Given the description of an element on the screen output the (x, y) to click on. 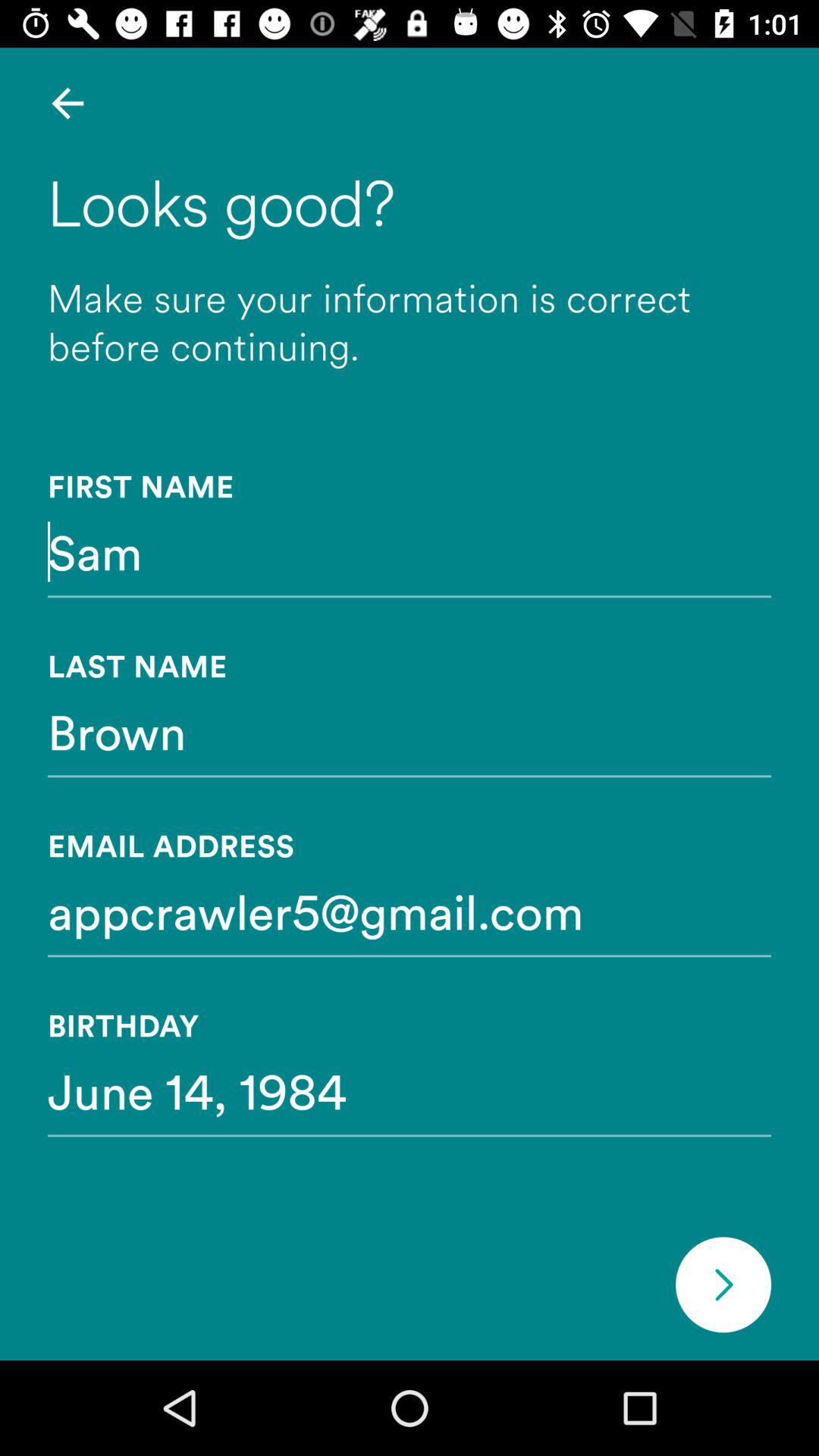
swipe until sam item (409, 551)
